Given the description of an element on the screen output the (x, y) to click on. 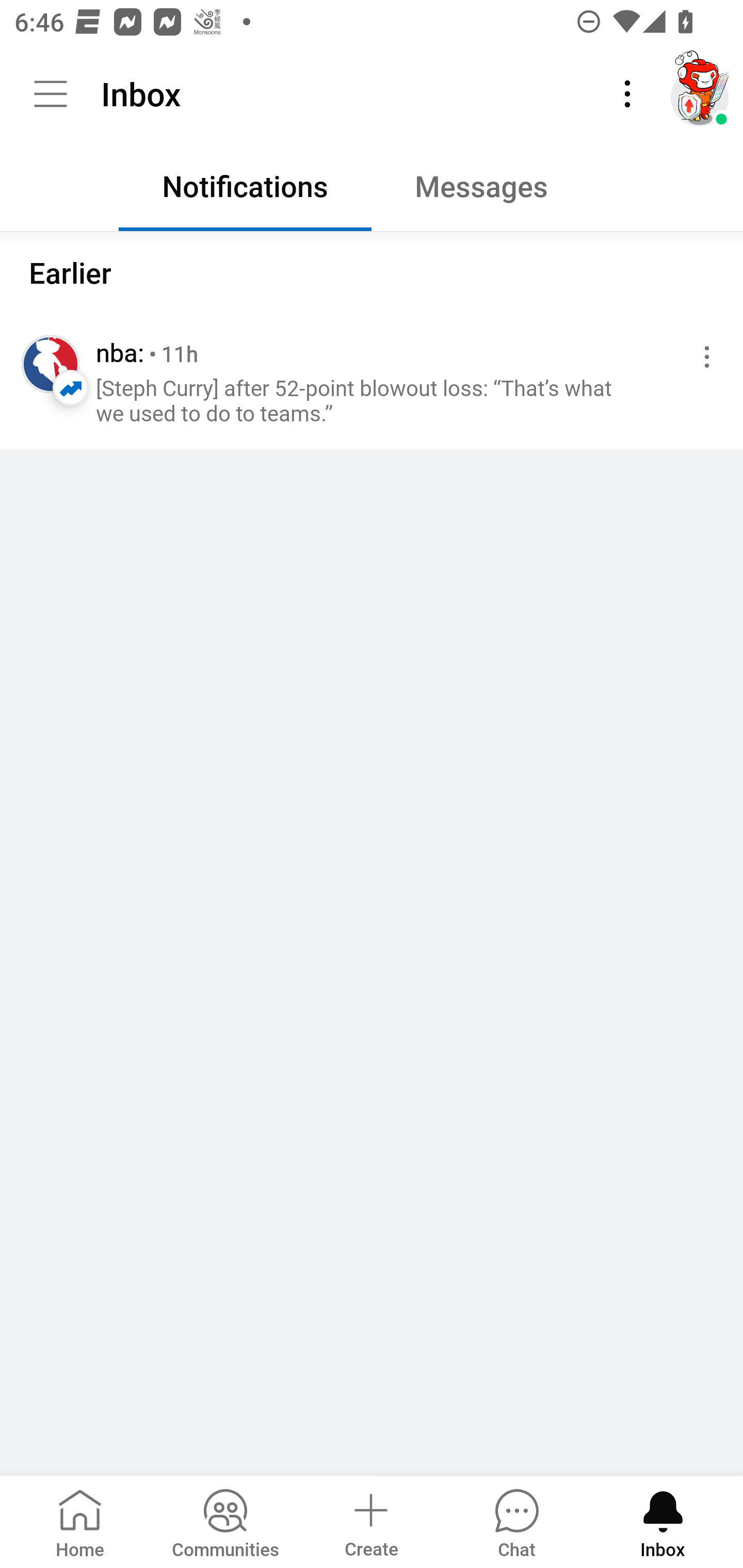
Community menu (50, 93)
More (626, 93)
TestAppium002 account (699, 93)
Messages (497, 191)
More options (703, 356)
Home (80, 1520)
Communities (225, 1520)
Create a post Create (370, 1520)
Chat (516, 1520)
Inbox (662, 1520)
